Given the description of an element on the screen output the (x, y) to click on. 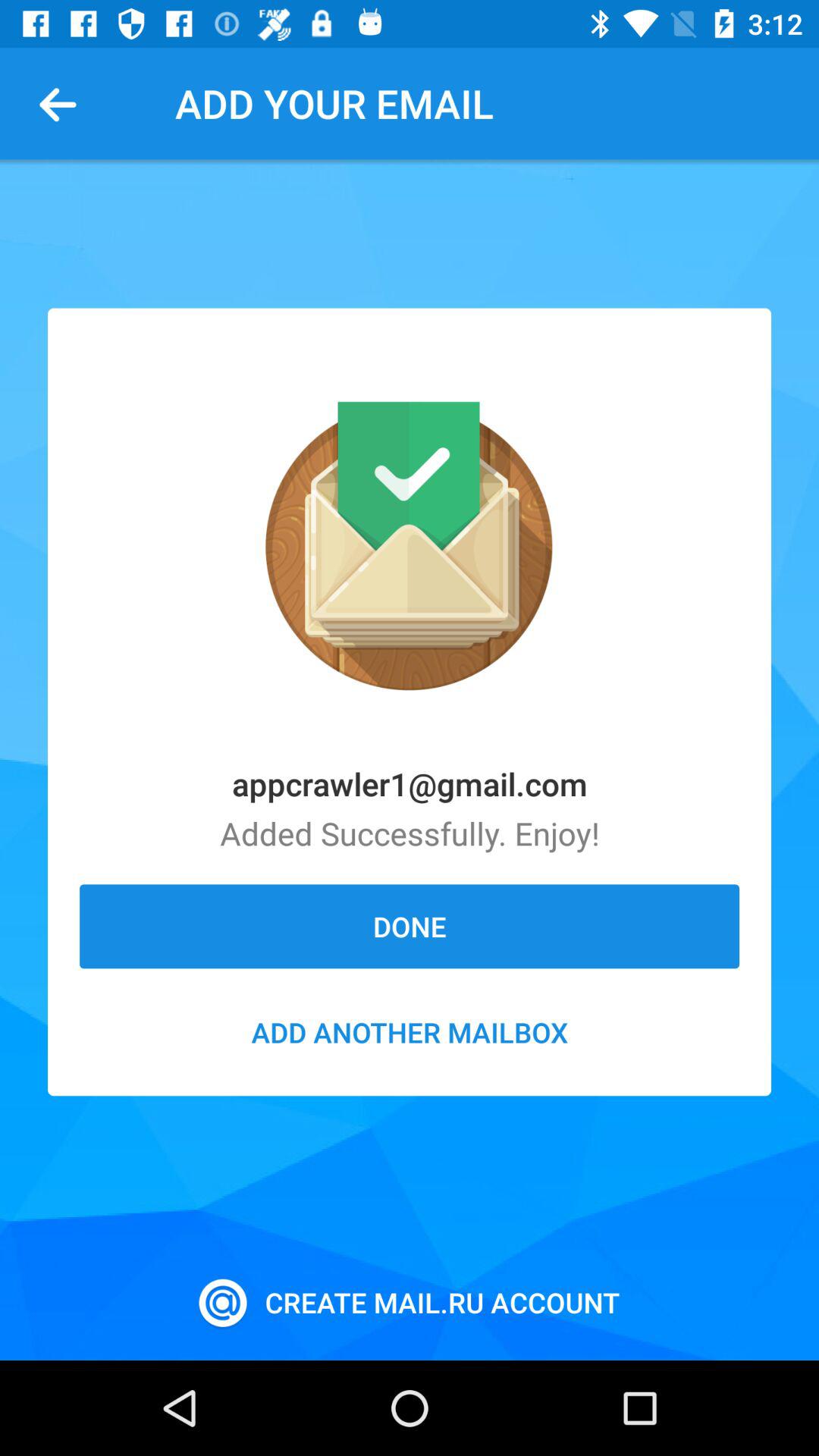
open the item next to add your email item (63, 103)
